Given the description of an element on the screen output the (x, y) to click on. 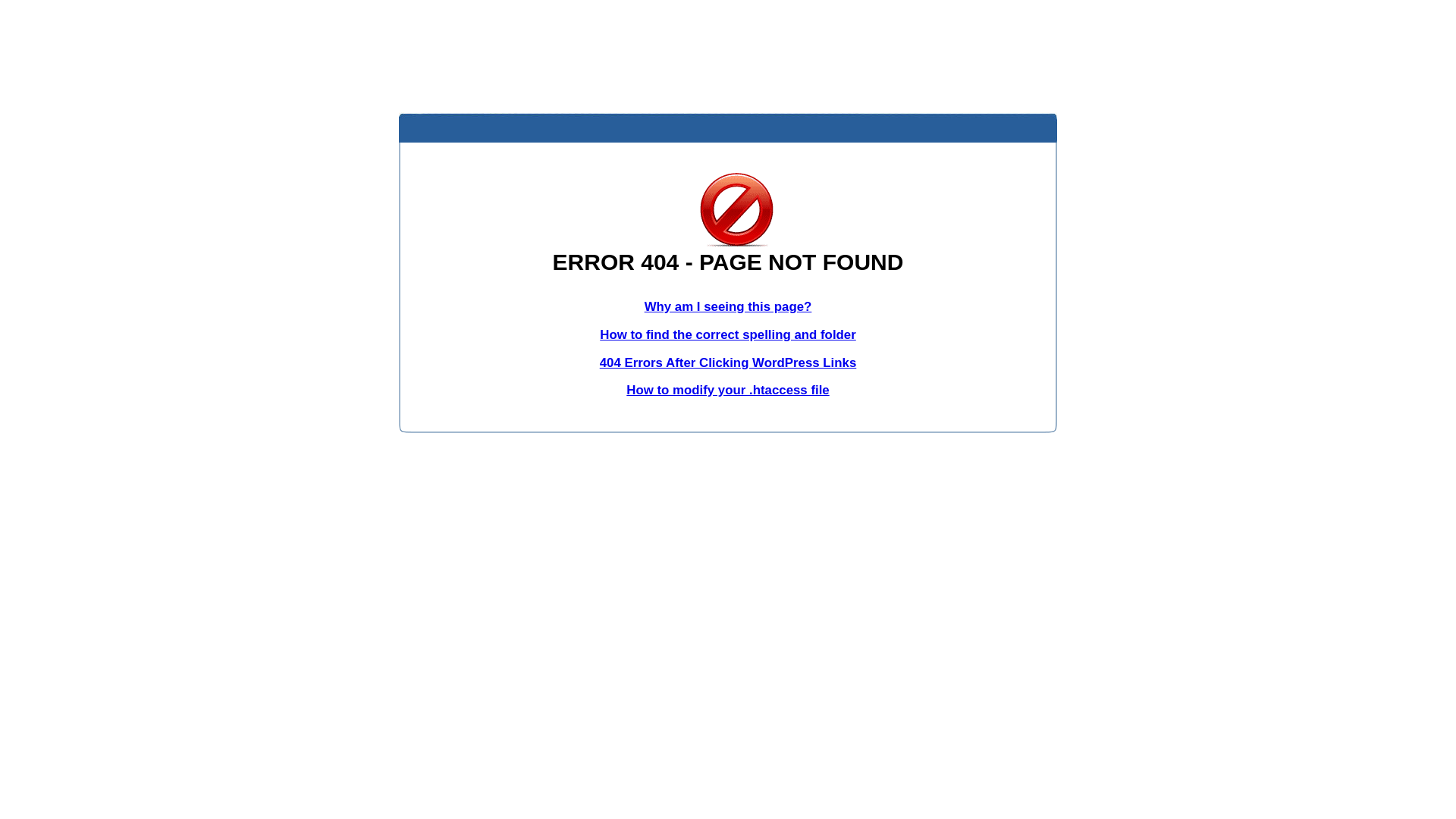
Why am I seeing this page? Element type: text (728, 306)
How to modify your .htaccess file Element type: text (727, 389)
How to find the correct spelling and folder Element type: text (727, 334)
404 Errors After Clicking WordPress Links Element type: text (727, 362)
